Given the description of an element on the screen output the (x, y) to click on. 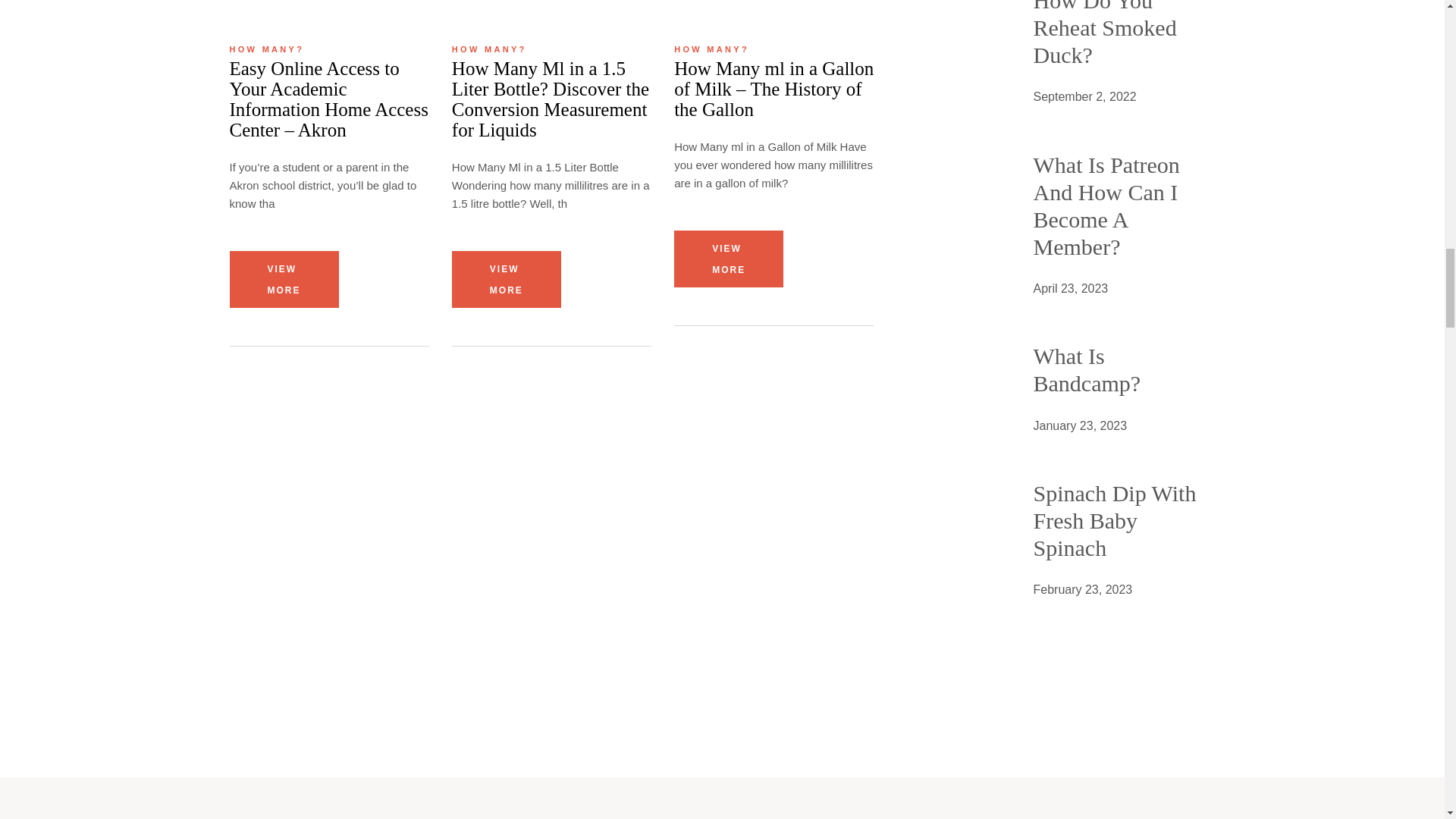
HOW MANY? (266, 49)
Title Text:  (1083, 96)
Title Text:  (1082, 589)
VIEW MORE (282, 278)
Title Text:  (1079, 425)
Title Text:  (1070, 288)
